Given the description of an element on the screen output the (x, y) to click on. 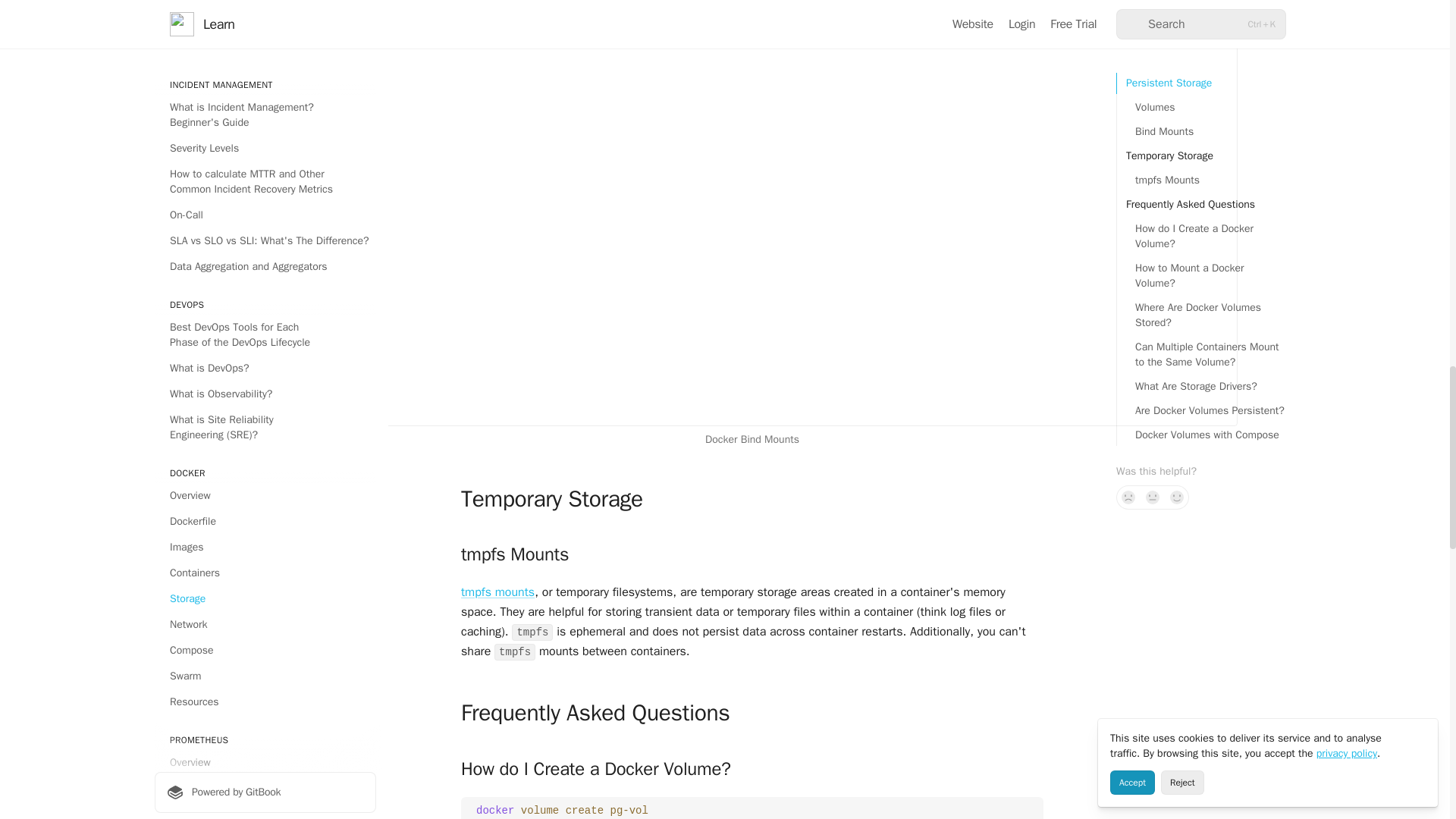
docker volume create pg-vol (752, 807)
